Given the description of an element on the screen output the (x, y) to click on. 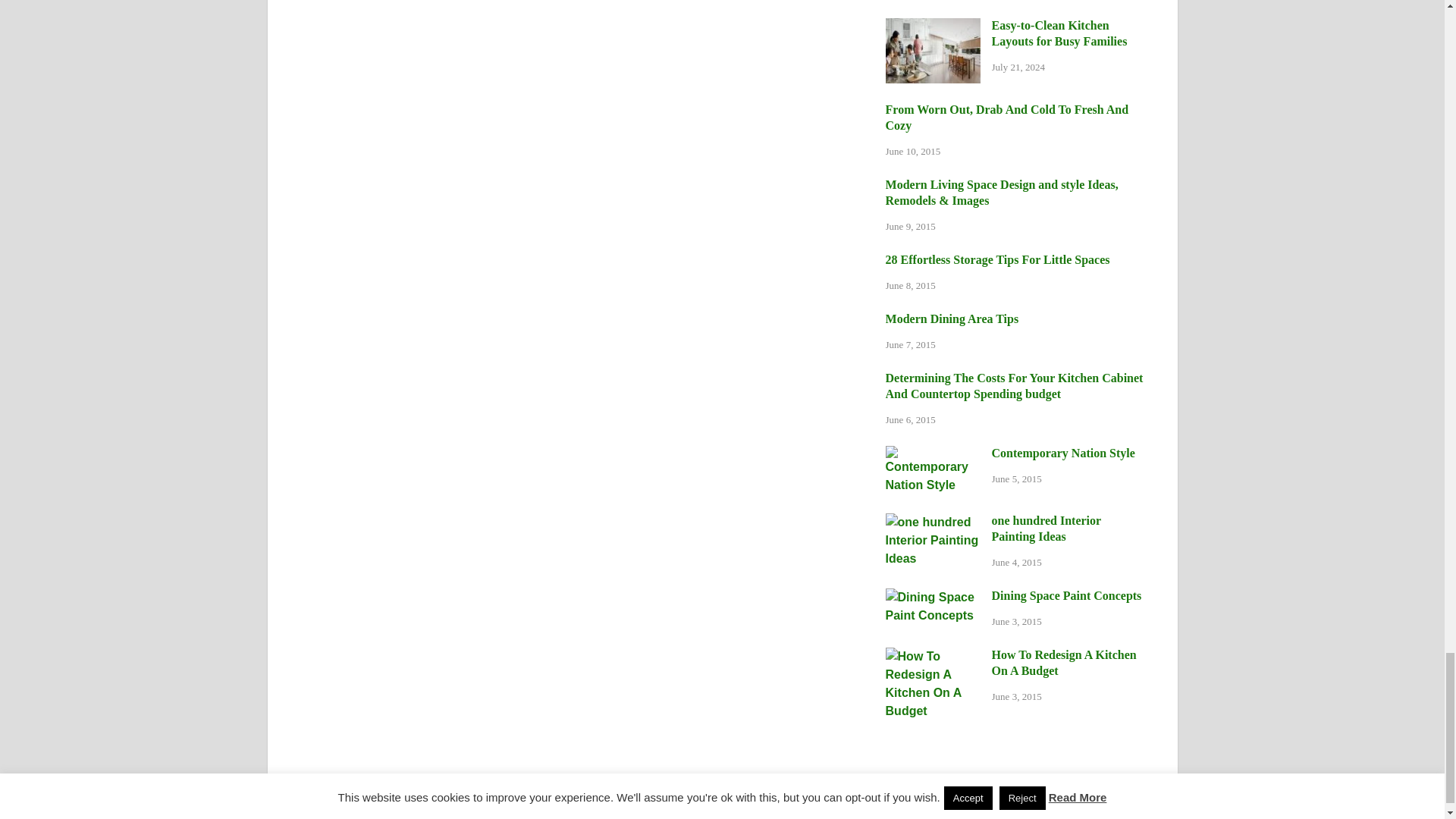
one hundred Interior Painting Ideas (932, 521)
Dining Space Paint Concepts (932, 596)
Contemporary Nation Style (932, 454)
How To Redesign A Kitchen On A Budget (932, 656)
Easy-to-Clean Kitchen Layouts for Busy Families (932, 26)
